Given the description of an element on the screen output the (x, y) to click on. 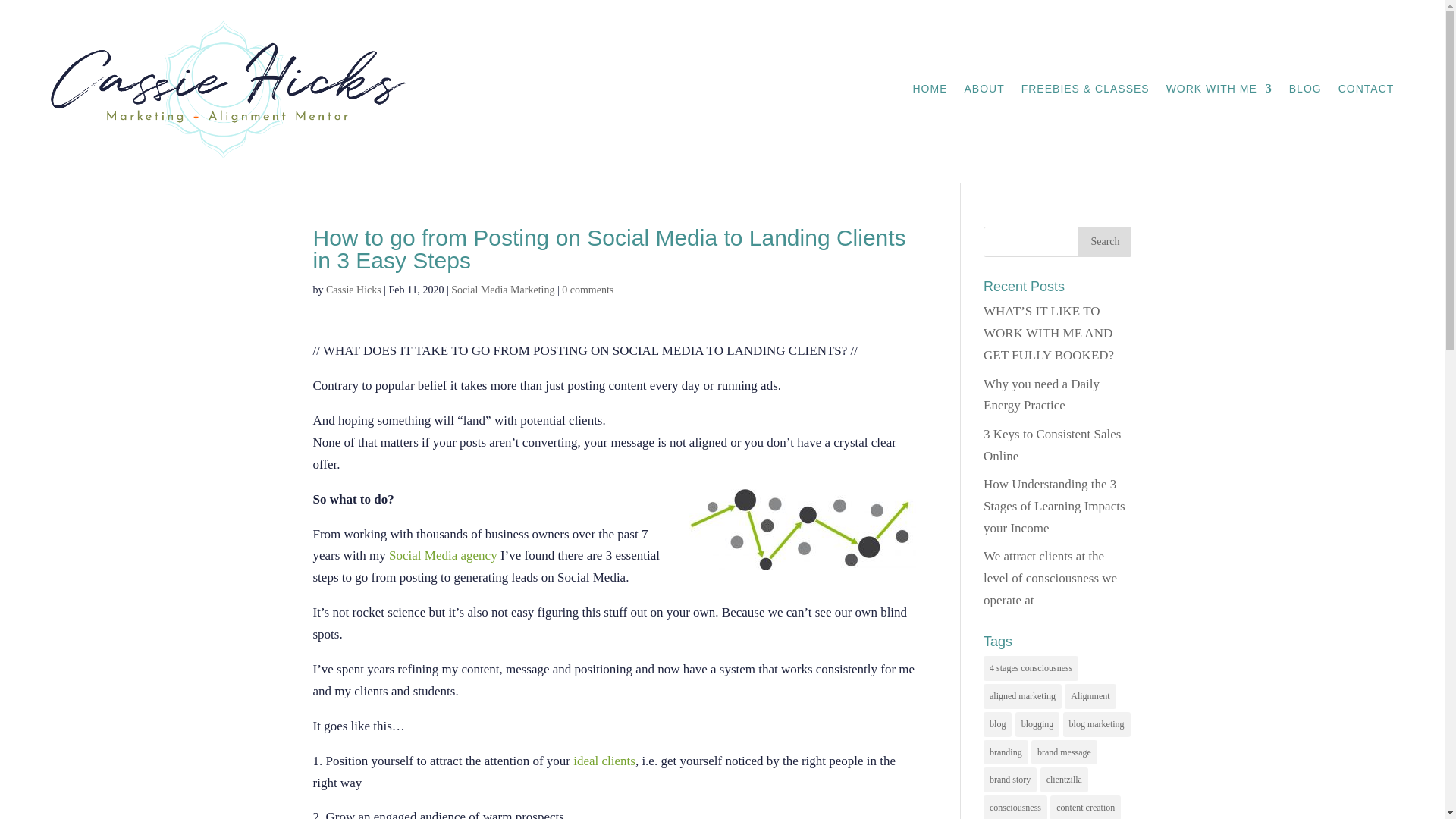
Posts by Cassie Hicks (353, 289)
BLOG (1305, 91)
HOME (929, 91)
Search (1104, 241)
CONTACT (1366, 91)
WORK WITH ME (1219, 91)
ABOUT (983, 91)
